Given the description of an element on the screen output the (x, y) to click on. 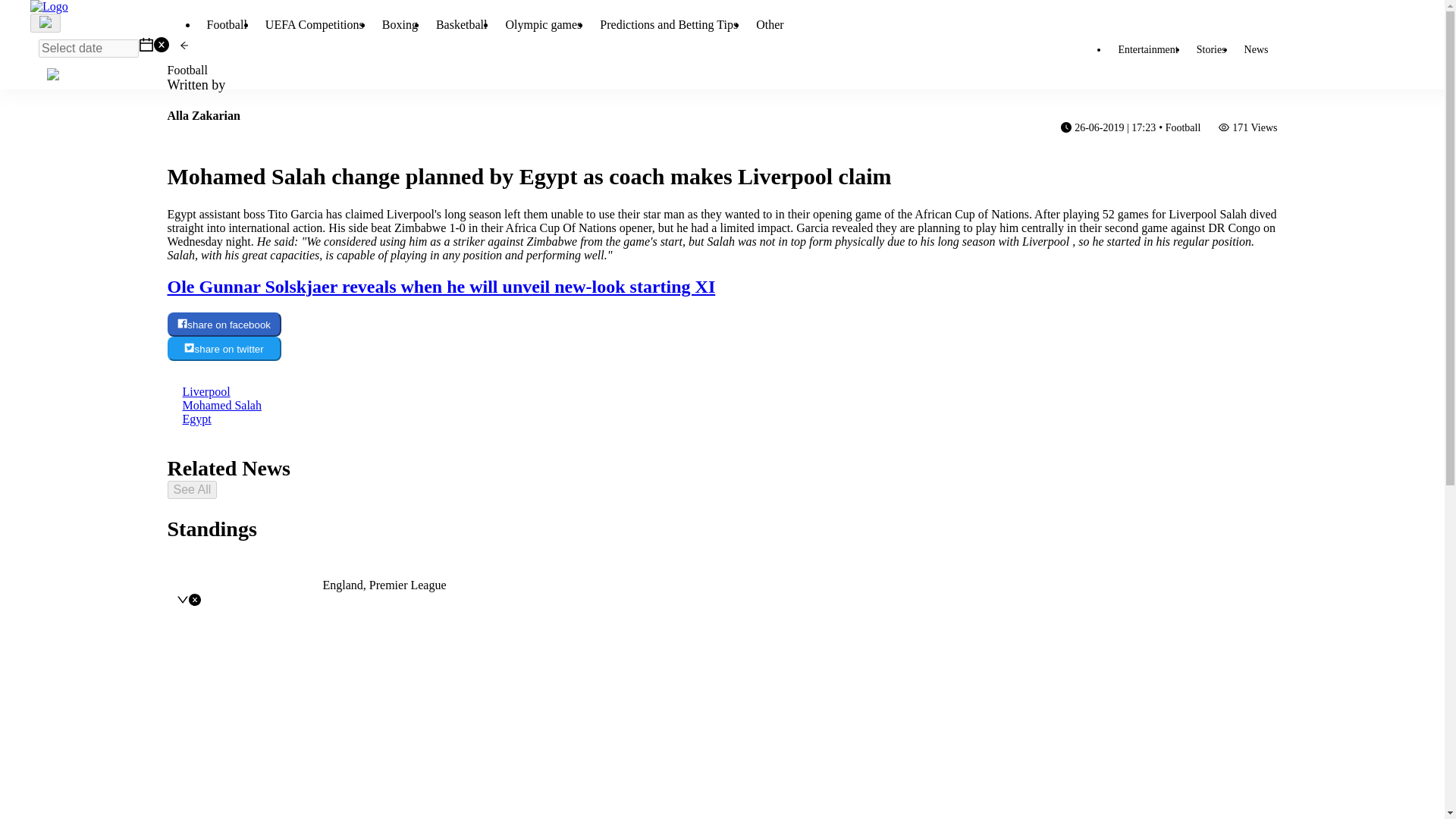
Football (186, 69)
See All (191, 489)
Mohamed Salah (221, 404)
England, Premier League (384, 584)
Liverpool (206, 391)
Egypt (196, 418)
share on twitter (224, 348)
share on facebook (224, 324)
